Given the description of an element on the screen output the (x, y) to click on. 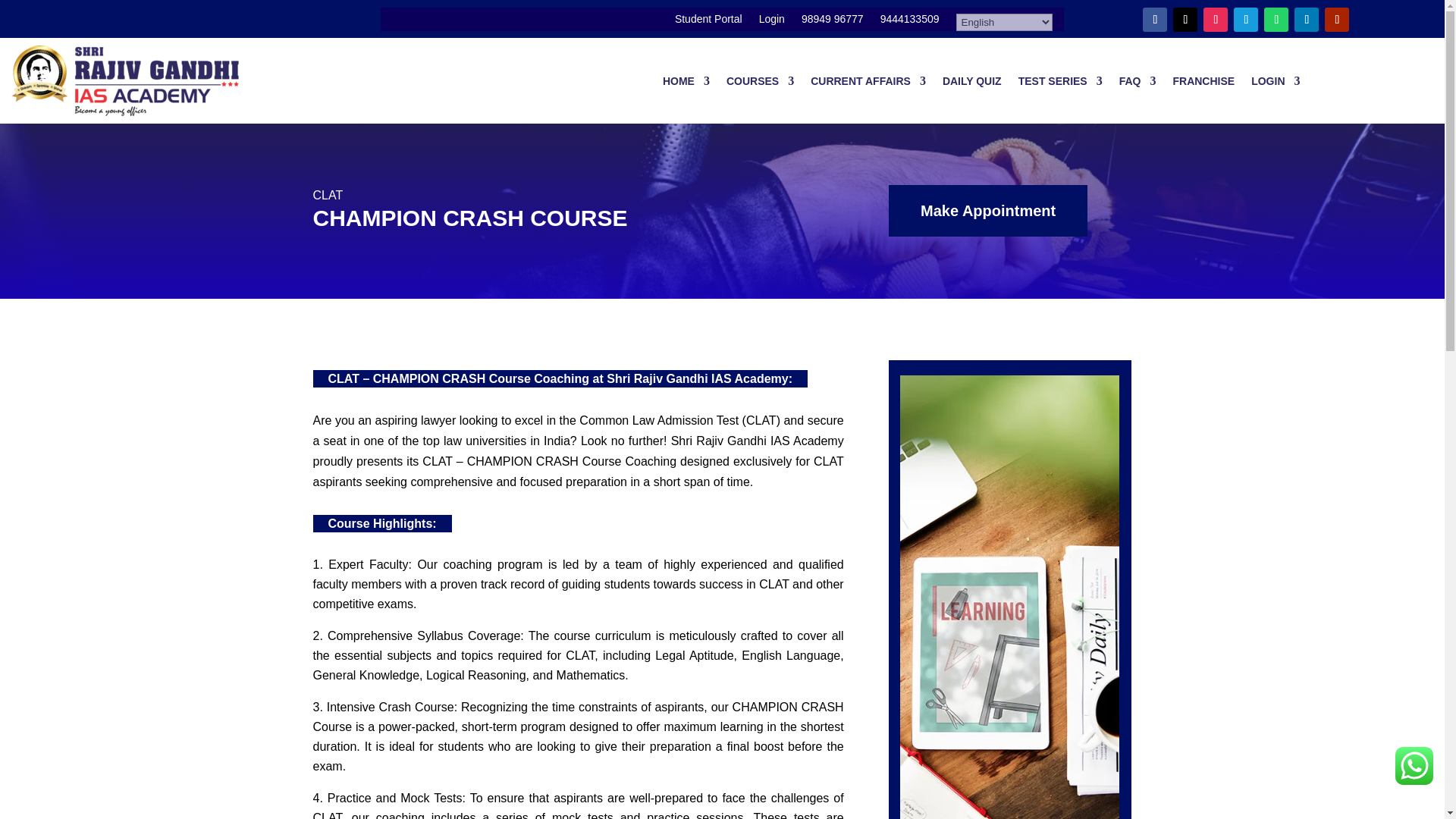
9444133509 (909, 22)
Follow on Instagram (1215, 19)
Follow on Youtube (1336, 19)
Follow on WhatsApp (1275, 19)
Follow on X (1184, 19)
COURSES (759, 80)
Login (771, 22)
98949 96777 (832, 22)
Follow on LinkedIn (1306, 19)
Follow on Facebook (1154, 19)
Student Portal (708, 22)
Follow on Telegram (1245, 19)
